Given the description of an element on the screen output the (x, y) to click on. 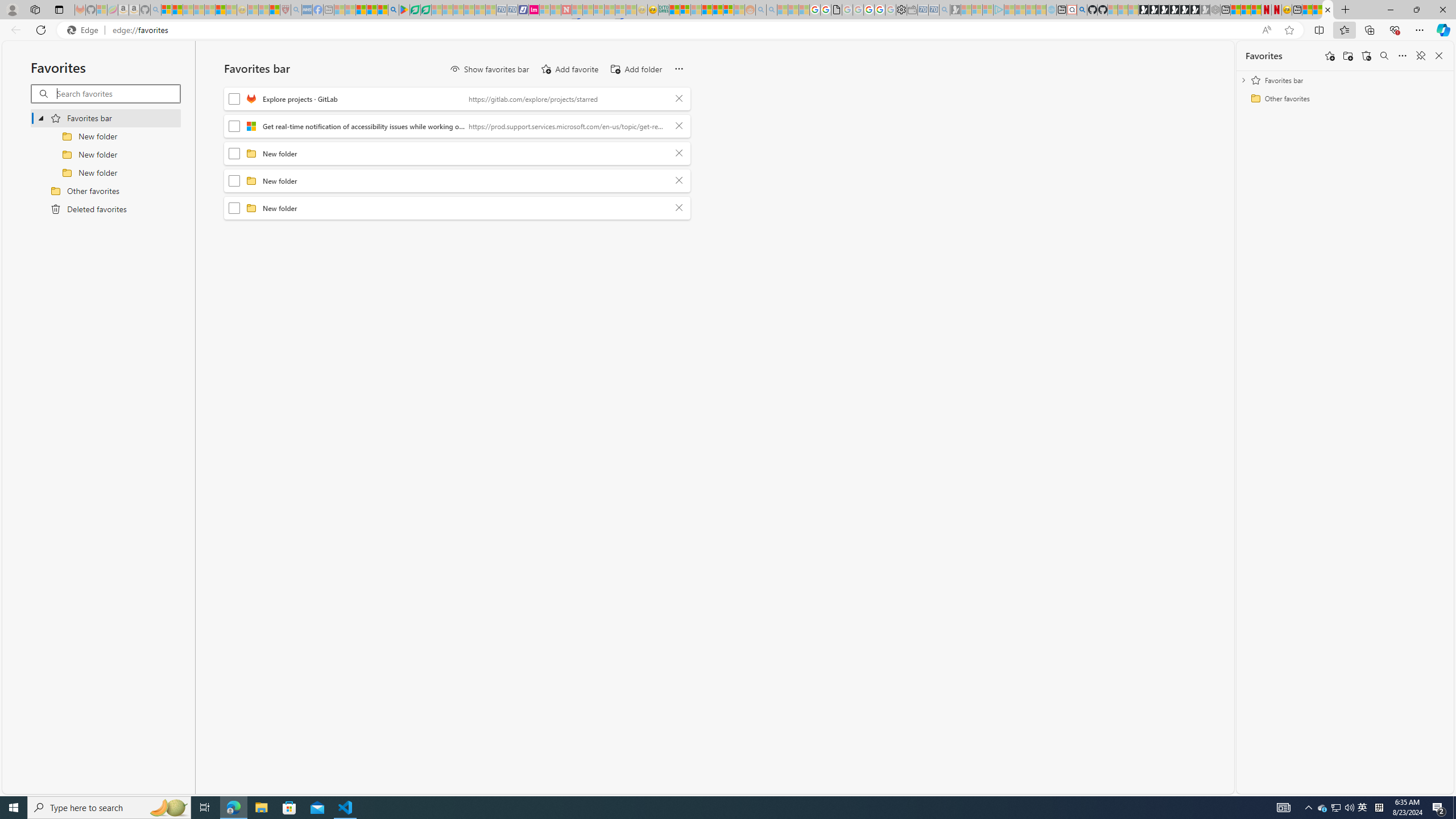
Cheap Car Rentals - Save70.com - Sleeping (933, 9)
Minimize (1390, 9)
More options (1402, 55)
Settings and more (Alt+F) (1419, 29)
New Report Confirms 2023 Was Record Hot | Watch - Sleeping (209, 9)
Bing Real Estate - Home sales and rental listings - Sleeping (944, 9)
google - Search (392, 9)
Workspaces (34, 9)
Close (1442, 9)
google_privacy_policy_zh-CN.pdf (837, 9)
Collections (1369, 29)
New Tab (1346, 9)
